Given the description of an element on the screen output the (x, y) to click on. 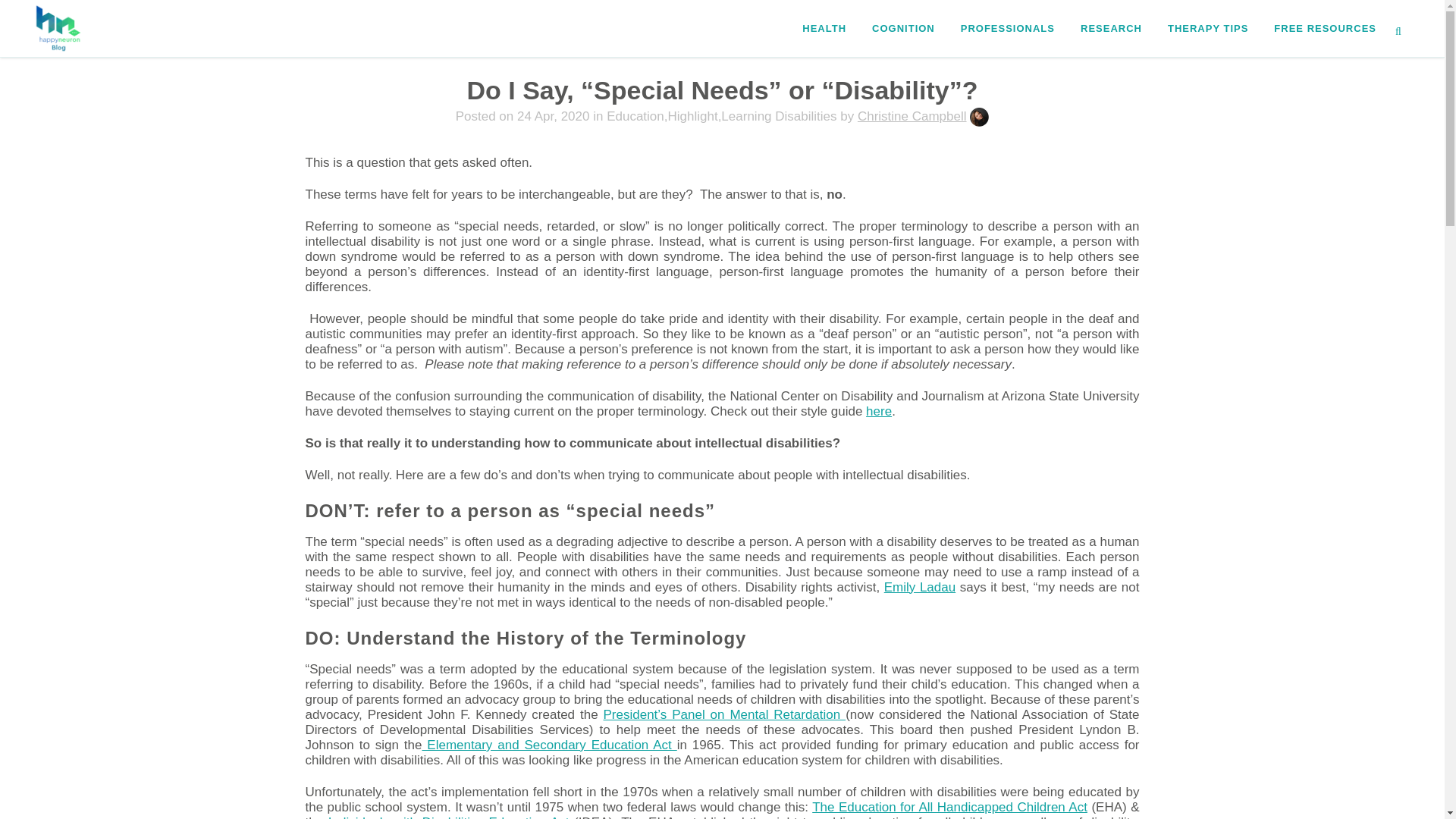
Christine Campbell (911, 115)
Emily Ladau (919, 586)
COGNITION (903, 28)
Elementary and Secondary Education Act (549, 744)
HEALTH (824, 28)
here (878, 411)
Individuals with Disabilities Education Act (451, 816)
FREE RESOURCES (1324, 28)
The Education for All Handicapped Children Act (949, 807)
PROFESSIONALS (1007, 28)
RESEARCH (1110, 28)
THERAPY TIPS (1207, 28)
